Given the description of an element on the screen output the (x, y) to click on. 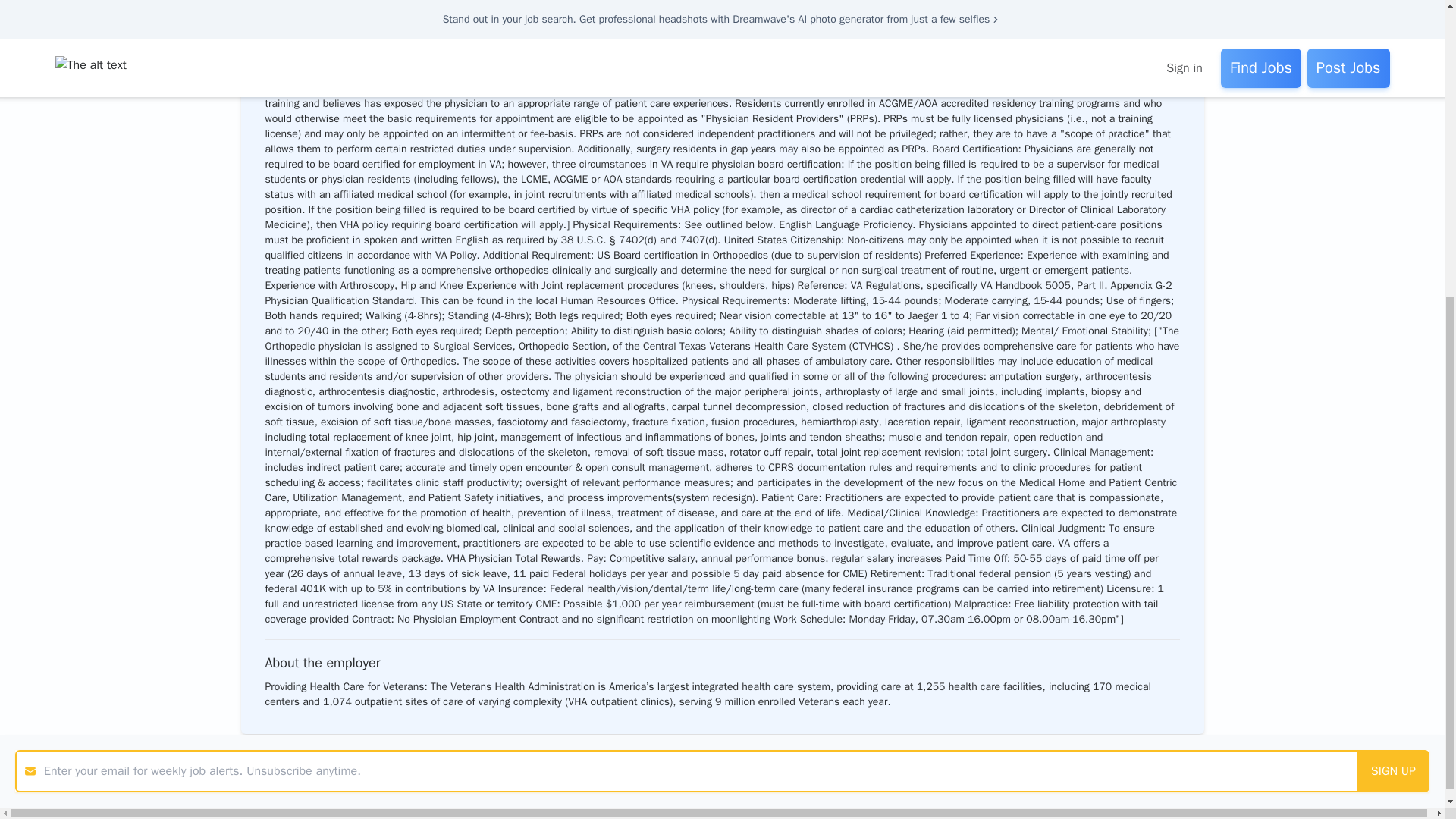
SIGN UP (1392, 299)
